Given the description of an element on the screen output the (x, y) to click on. 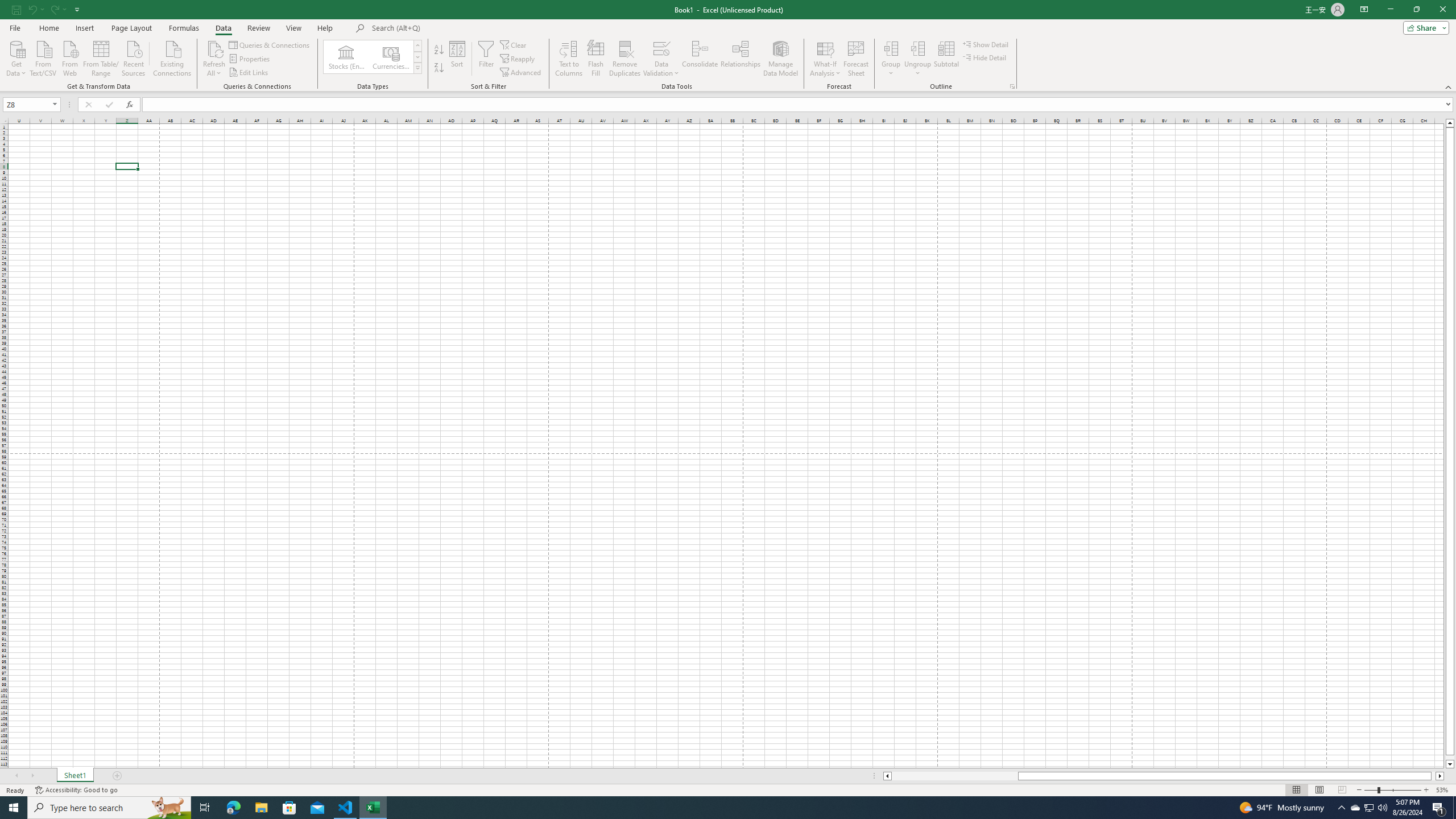
Sort... (456, 58)
